Given the description of an element on the screen output the (x, y) to click on. 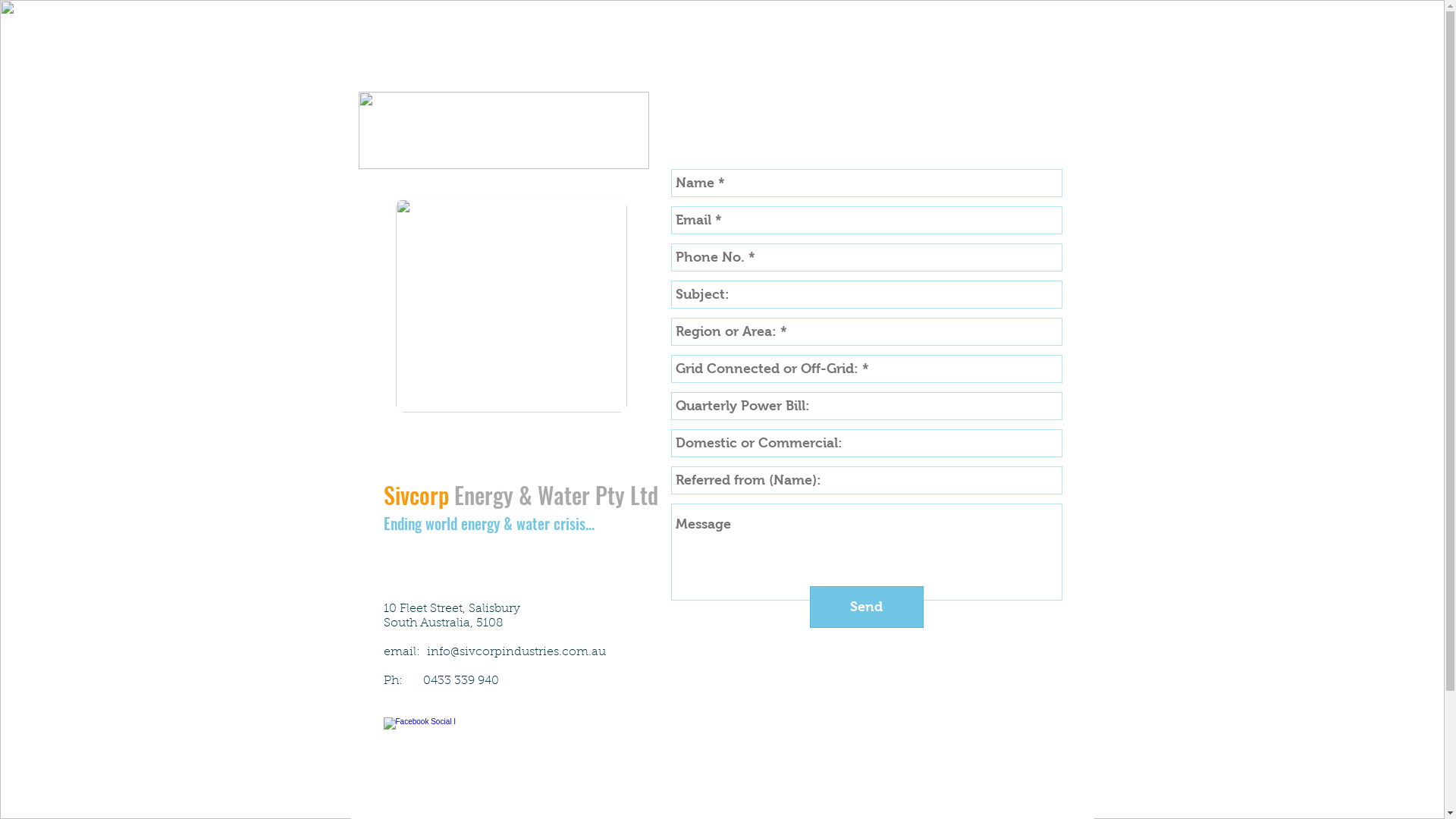
SOLAR FARMING Element type: text (724, 64)
COMMERCIAL SOLUTIONS Element type: text (574, 64)
TESTIMONIALS Element type: text (966, 64)
OFF-GRID ENERGY Element type: text (417, 64)
Send Element type: text (866, 606)
info@sivcorpindustries.com.au Element type: text (515, 652)
HYDRO ENERGY Element type: text (847, 64)
